Given the description of an element on the screen output the (x, y) to click on. 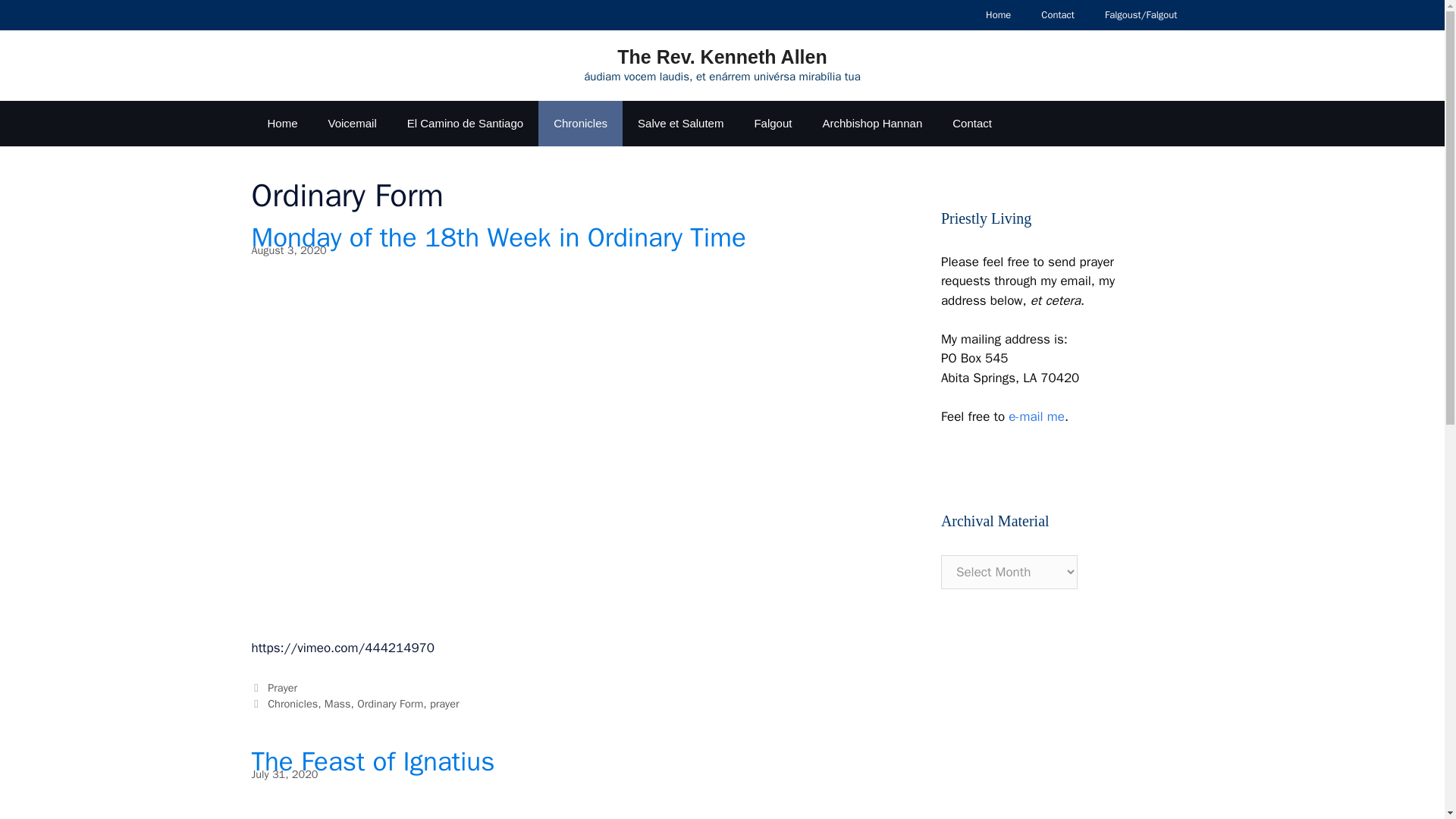
e-mail me (1036, 415)
Contact (972, 122)
Chronicles (292, 703)
Chronicles (580, 122)
Contact (1057, 15)
The Feast of Ignatius (373, 761)
El Camino de Santiago (464, 122)
Prayer (282, 687)
Falgout (772, 122)
Home (998, 15)
